Given the description of an element on the screen output the (x, y) to click on. 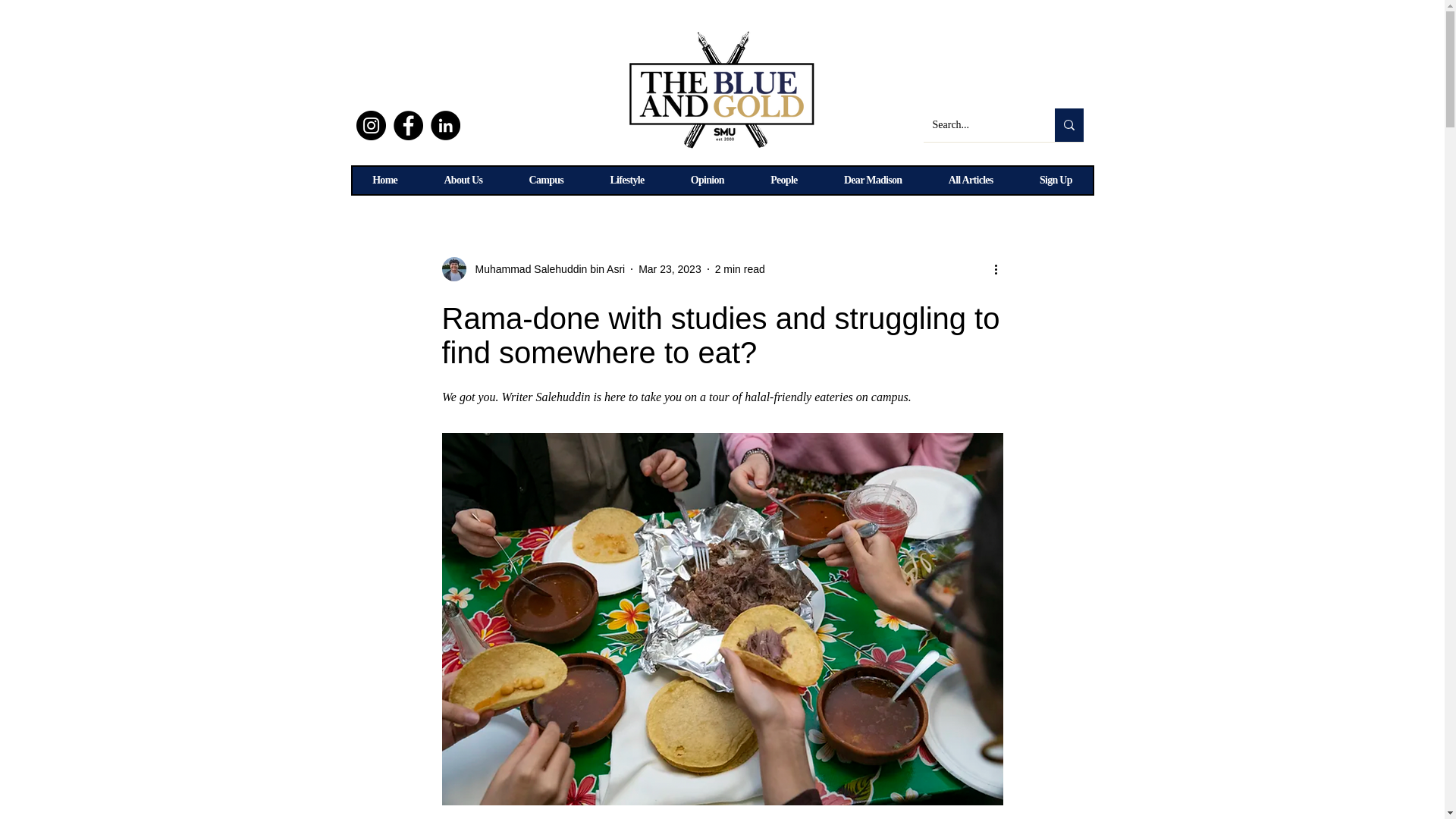
Dear Madison (872, 180)
Home (384, 180)
Campus (545, 180)
Muhammad Salehuddin bin Asri (532, 269)
Muhammad Salehuddin bin Asri (544, 268)
People (784, 180)
2 min read (739, 268)
Mar 23, 2023 (670, 268)
All Articles (970, 180)
About Us (462, 180)
